Given the description of an element on the screen output the (x, y) to click on. 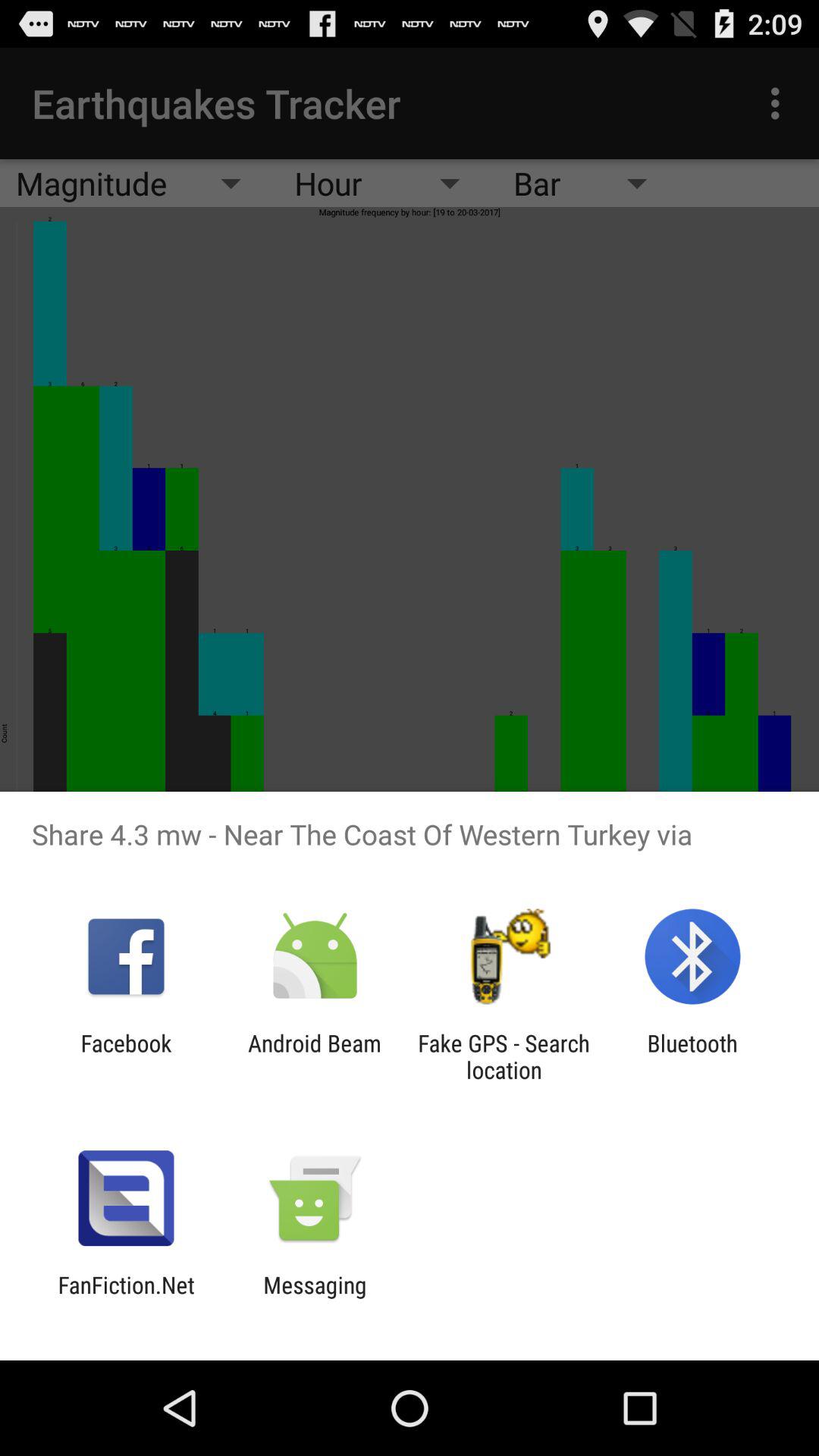
launch the messaging (314, 1298)
